Given the description of an element on the screen output the (x, y) to click on. 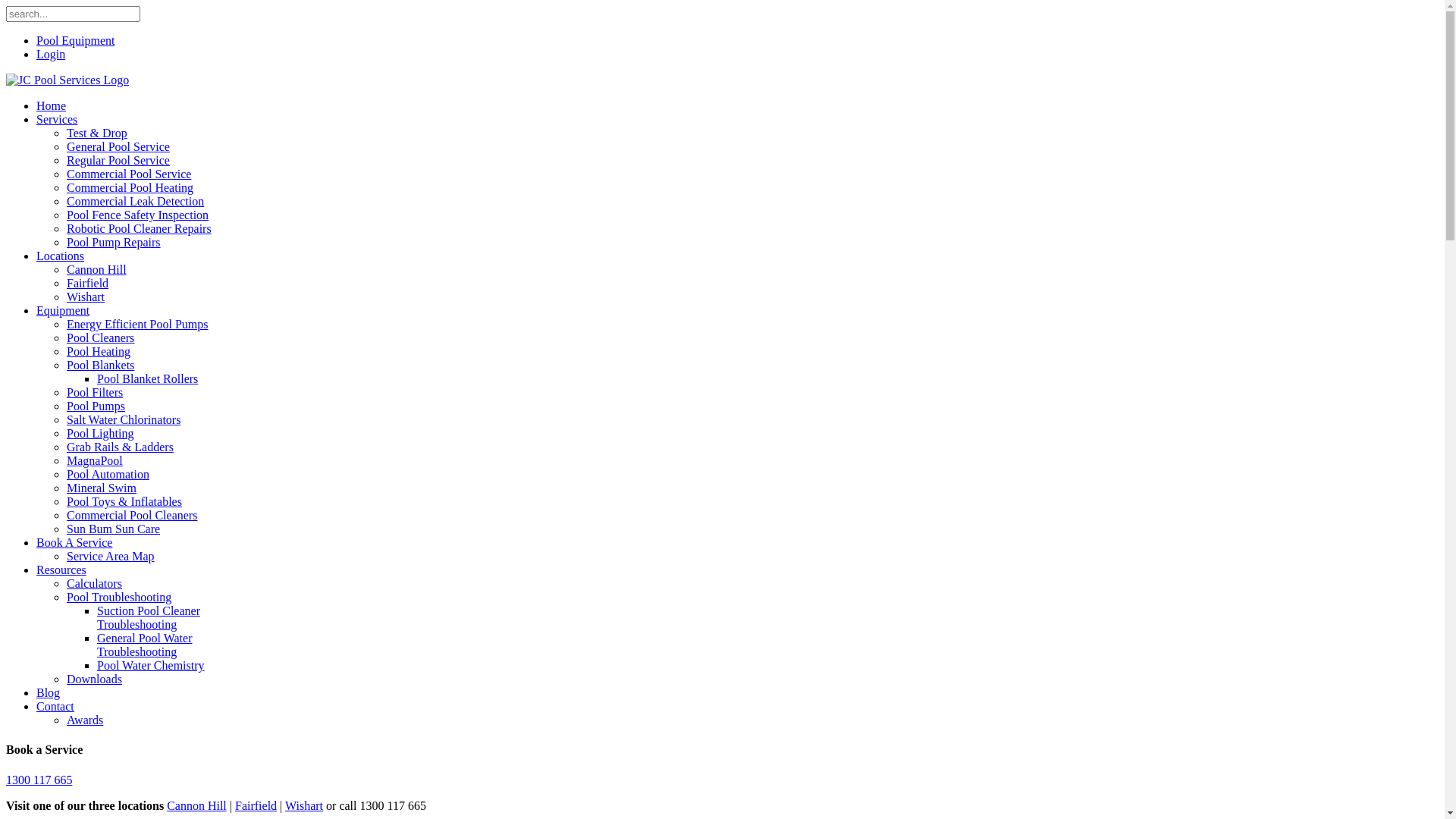
1300 117 665 Element type: text (39, 779)
Wishart Element type: text (85, 296)
General Pool Water Troubleshooting Element type: text (144, 644)
Equipment Element type: text (62, 310)
Fairfield Element type: text (87, 282)
Grab Rails & Ladders Element type: text (119, 446)
Pool Pump Repairs Element type: text (113, 241)
Pool Fence Safety Inspection Element type: text (137, 214)
Service Area Map Element type: text (110, 555)
Regular Pool Service Element type: text (117, 159)
Downloads Element type: text (94, 678)
Pool Troubleshooting Element type: text (118, 596)
Blog Element type: text (47, 692)
Pool Heating Element type: text (98, 351)
Pool Equipment Element type: text (75, 40)
Resources Element type: text (61, 569)
Pool Water Chemistry Element type: text (150, 664)
Locations Element type: text (60, 255)
Suction Pool Cleaner Troubleshooting Element type: text (148, 617)
Commercial Pool Heating Element type: text (129, 187)
Calculators Element type: text (94, 583)
Wishart Element type: text (304, 805)
Pool Pumps Element type: text (95, 405)
Pool Blankets Element type: text (100, 364)
Commercial Pool Cleaners Element type: text (131, 514)
Pool Automation Element type: text (107, 473)
Salt Water Chlorinators Element type: text (123, 419)
General Pool Service Element type: text (117, 146)
Commercial Pool Service Element type: text (128, 173)
Login Element type: text (50, 53)
Book A Service Element type: text (74, 542)
Pool Lighting Element type: text (99, 432)
Robotic Pool Cleaner Repairs Element type: text (138, 228)
Energy Efficient Pool Pumps Element type: text (137, 323)
Pool Cleaners Element type: text (100, 337)
Cannon Hill Element type: text (196, 805)
Contact Element type: text (55, 705)
Sun Bum Sun Care Element type: text (113, 528)
Pool Blanket Rollers Element type: text (147, 378)
Fairfield Element type: text (255, 805)
MagnaPool Element type: text (94, 460)
Services Element type: text (56, 118)
Awards Element type: text (84, 719)
Mineral Swim Element type: text (101, 487)
JC Pool Services Logo Element type: hover (67, 80)
Commercial Leak Detection Element type: text (134, 200)
Cannon Hill Element type: text (96, 269)
Test & Drop Element type: text (96, 132)
Pool Filters Element type: text (94, 391)
Pool Toys & Inflatables Element type: text (124, 501)
Home Element type: text (50, 105)
